Given the description of an element on the screen output the (x, y) to click on. 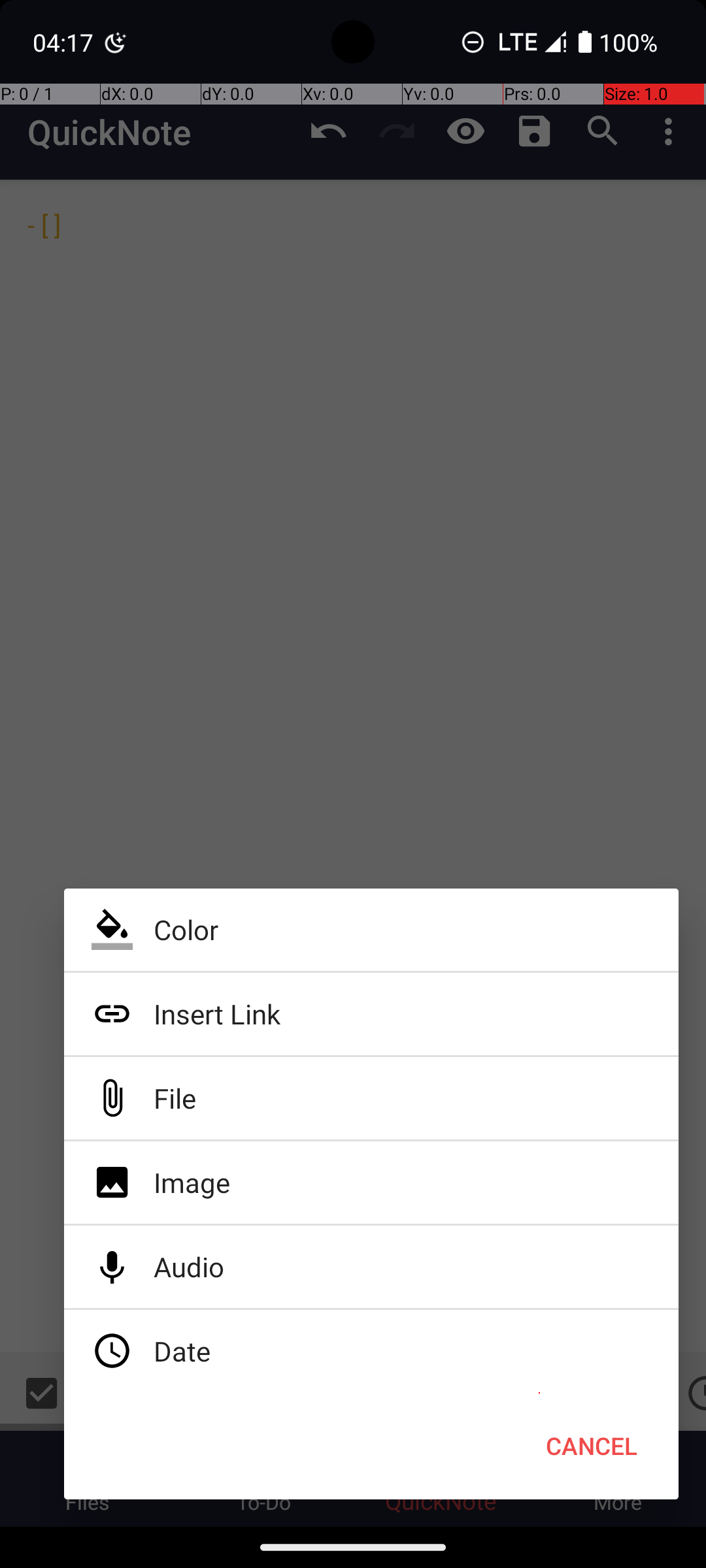
04:17 Element type: android.widget.TextView (64, 41)
Digital Wellbeing notification: Bedtime mode is on Element type: android.widget.ImageView (115, 41)
